Given the description of an element on the screen output the (x, y) to click on. 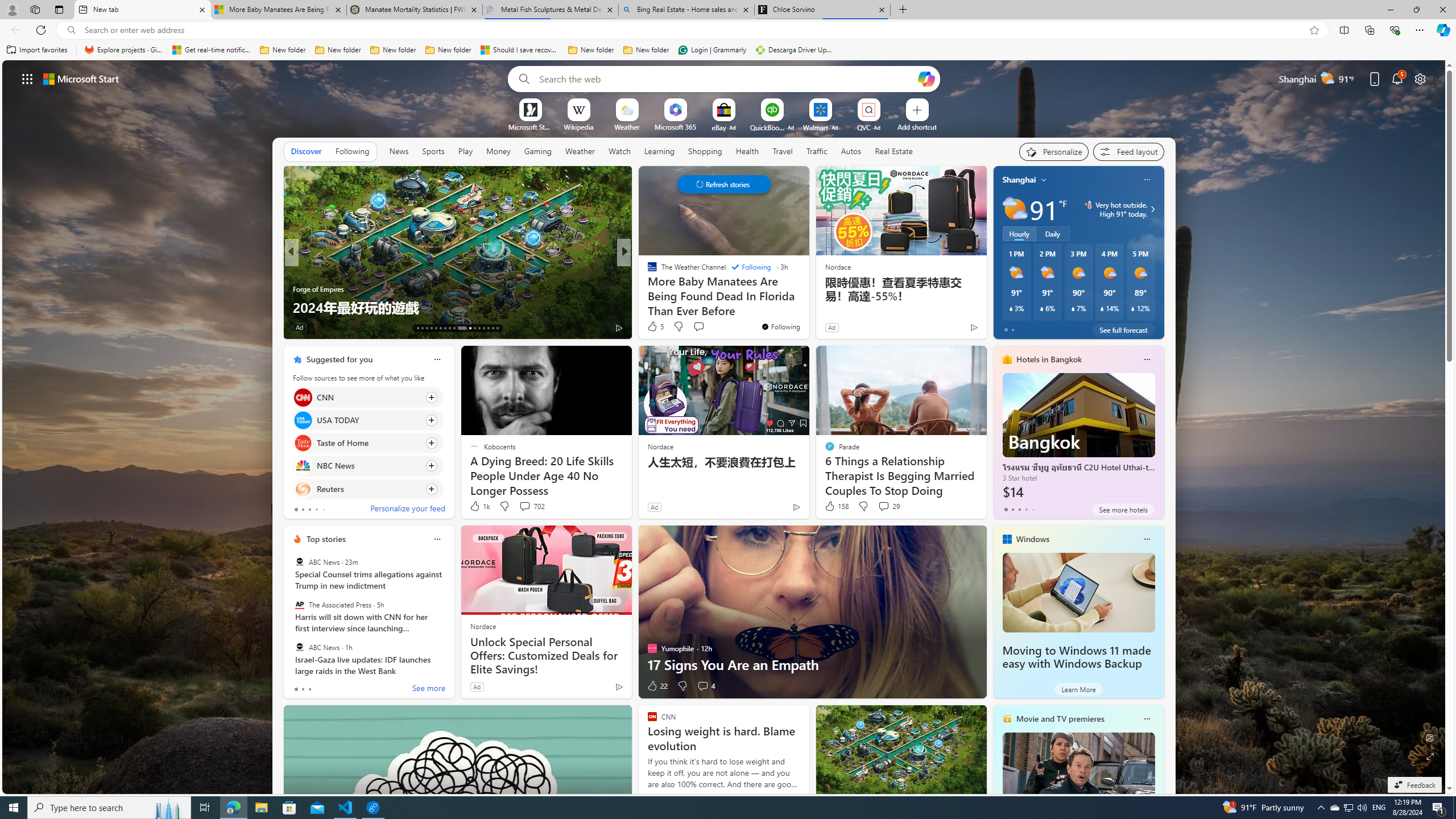
See more (428, 689)
Play (465, 151)
Class: weather-arrow-glyph (1152, 208)
Start the conversation (698, 326)
Suggested for you (338, 359)
Watch (619, 151)
Learn More (1078, 689)
Learning (659, 151)
How to Survive (647, 288)
Notifications (1397, 78)
Weather (579, 151)
Hotels in Bangkok (1048, 359)
